Given the description of an element on the screen output the (x, y) to click on. 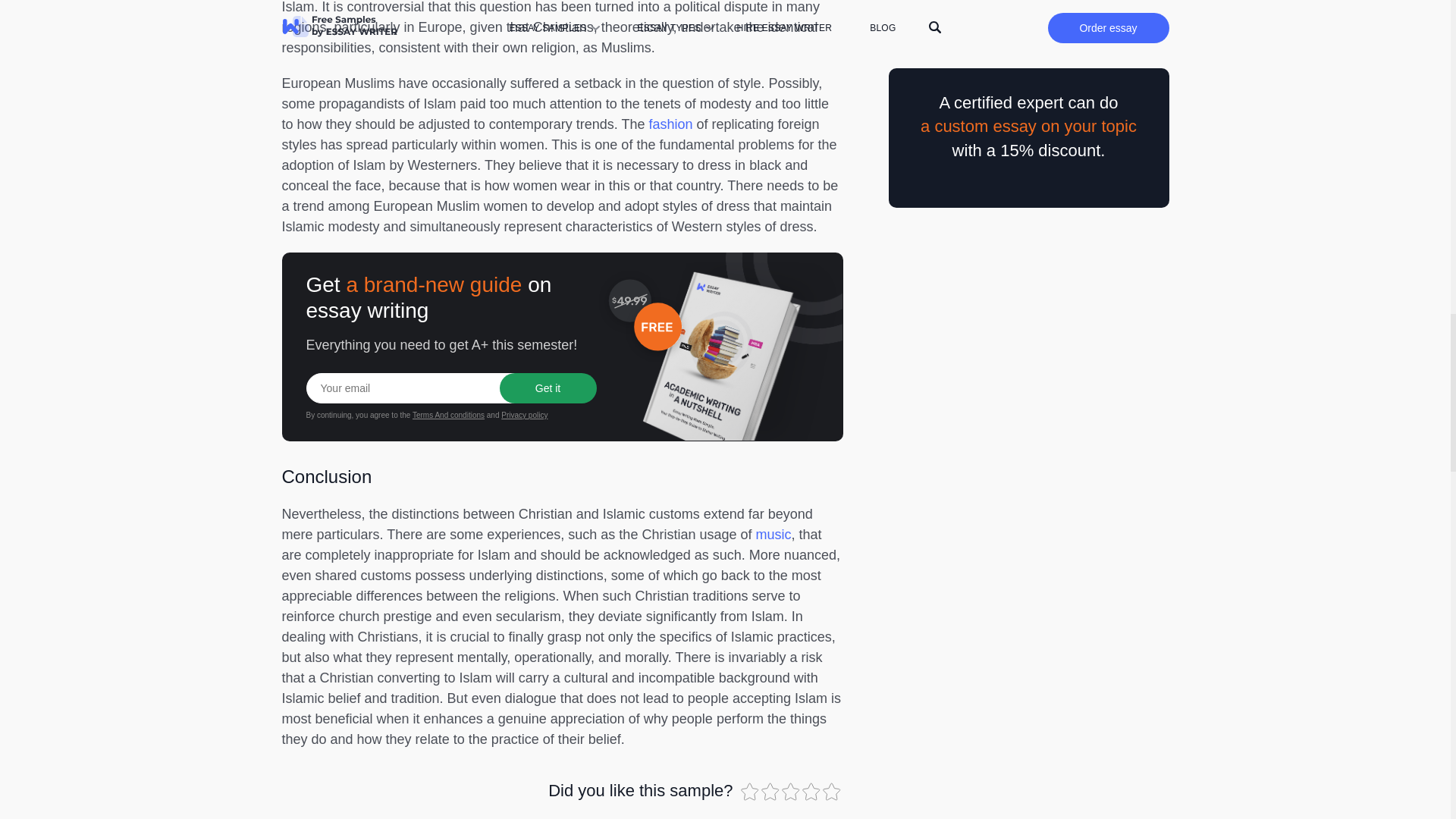
16 votes, average: 4,7 out of 5 (791, 791)
16 votes, average: 4,7 out of 5 (749, 791)
16 votes, average: 4,7 out of 5 (771, 791)
16 votes, average: 4,7 out of 5 (812, 791)
16 votes, average: 4,7 out of 5 (832, 791)
